Given the description of an element on the screen output the (x, y) to click on. 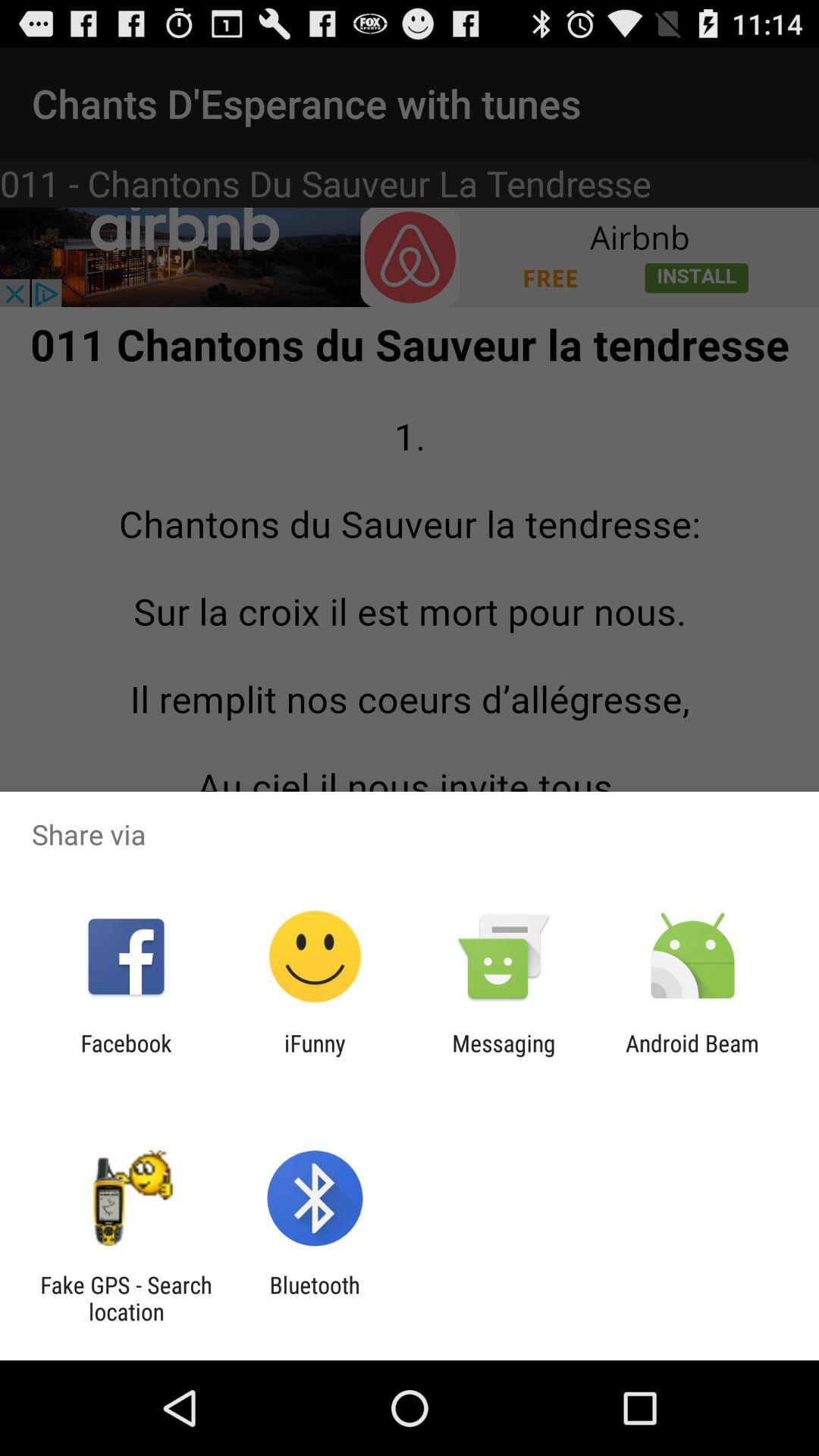
scroll to the ifunny item (314, 1056)
